Given the description of an element on the screen output the (x, y) to click on. 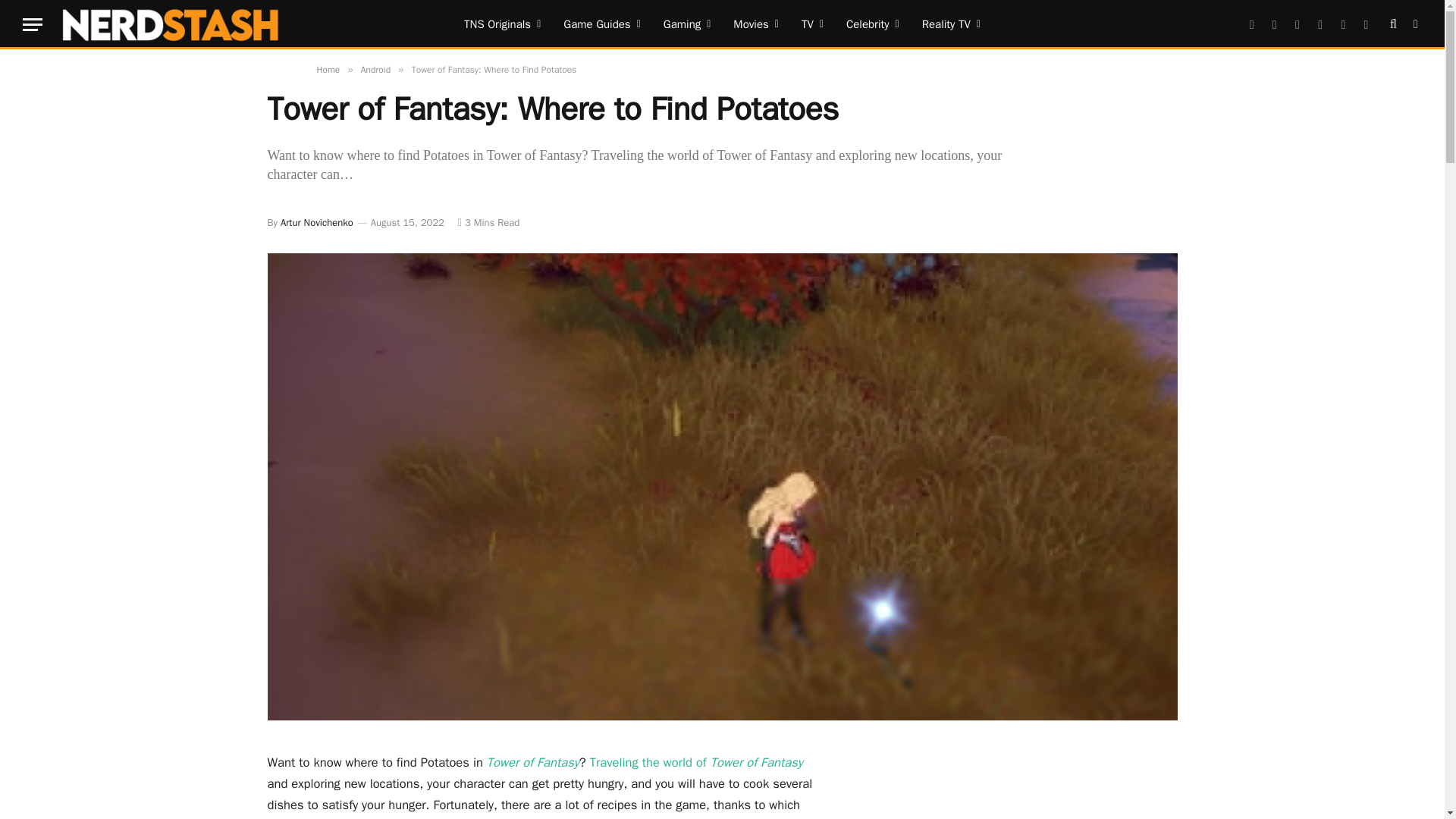
The Nerd Stash (171, 24)
Switch to Dark Design - easier on eyes. (1414, 24)
